Given the description of an element on the screen output the (x, y) to click on. 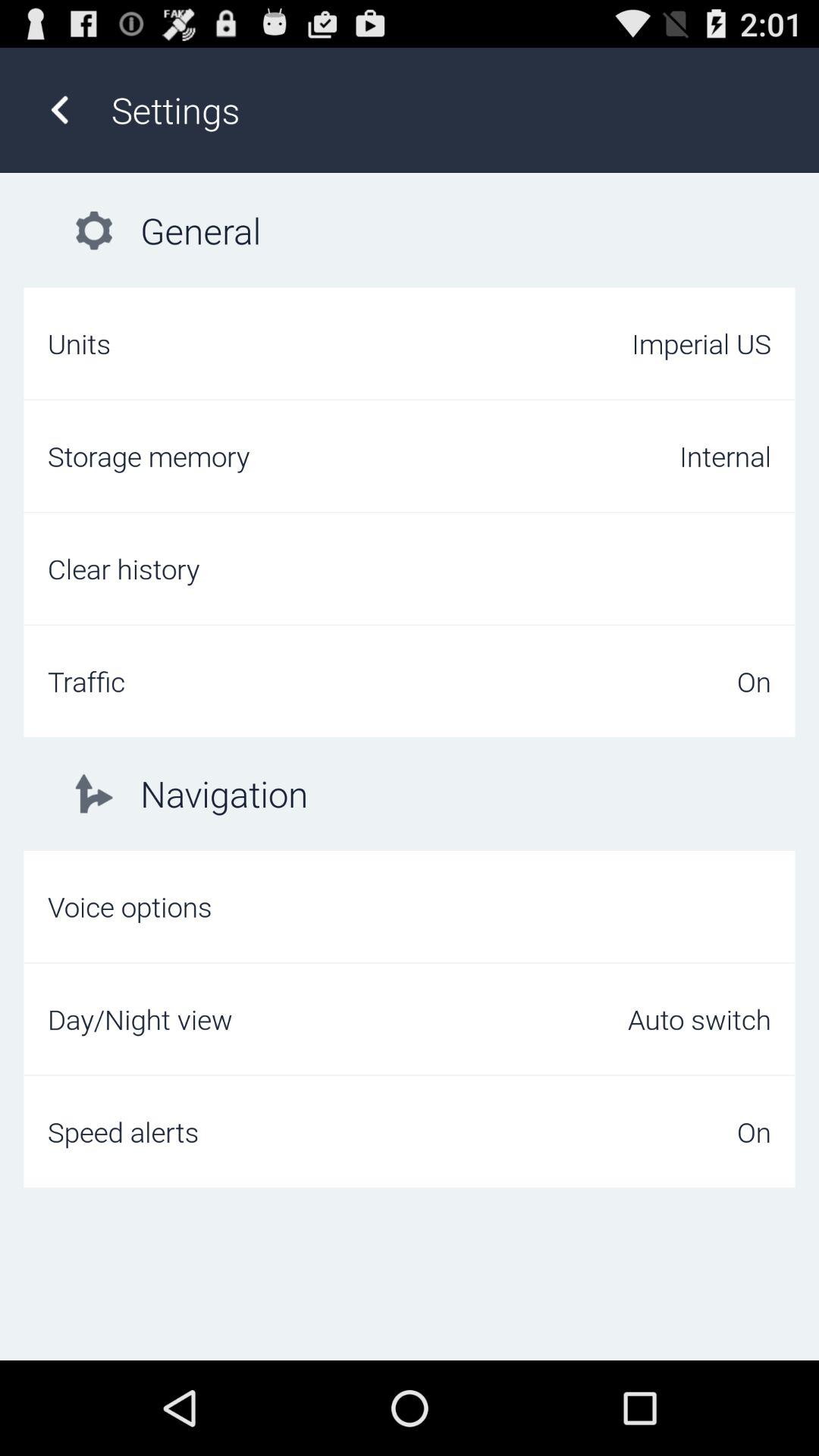
tap the item to the left of settings (59, 109)
